Given the description of an element on the screen output the (x, y) to click on. 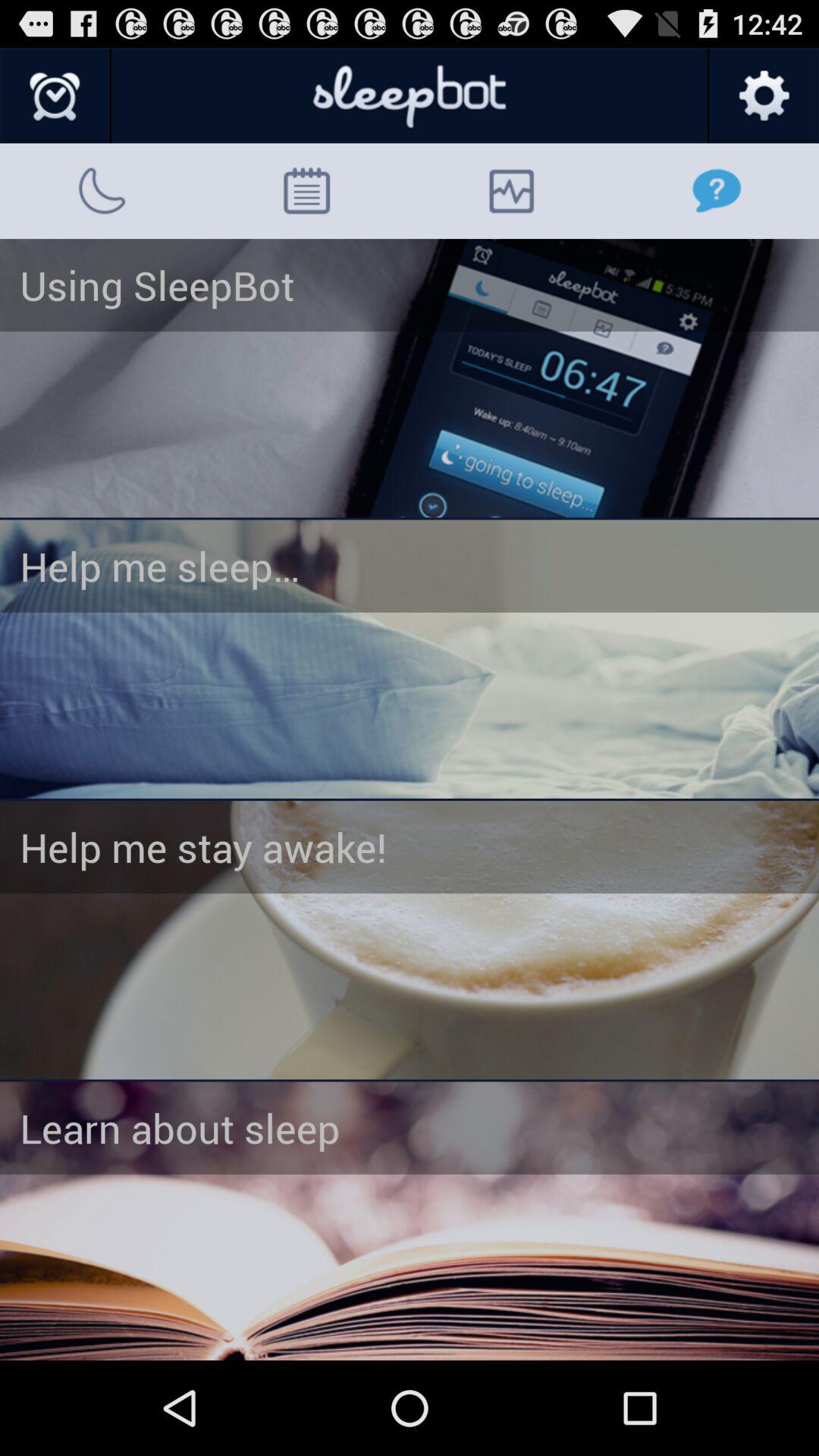
open third article (409, 939)
